Given the description of an element on the screen output the (x, y) to click on. 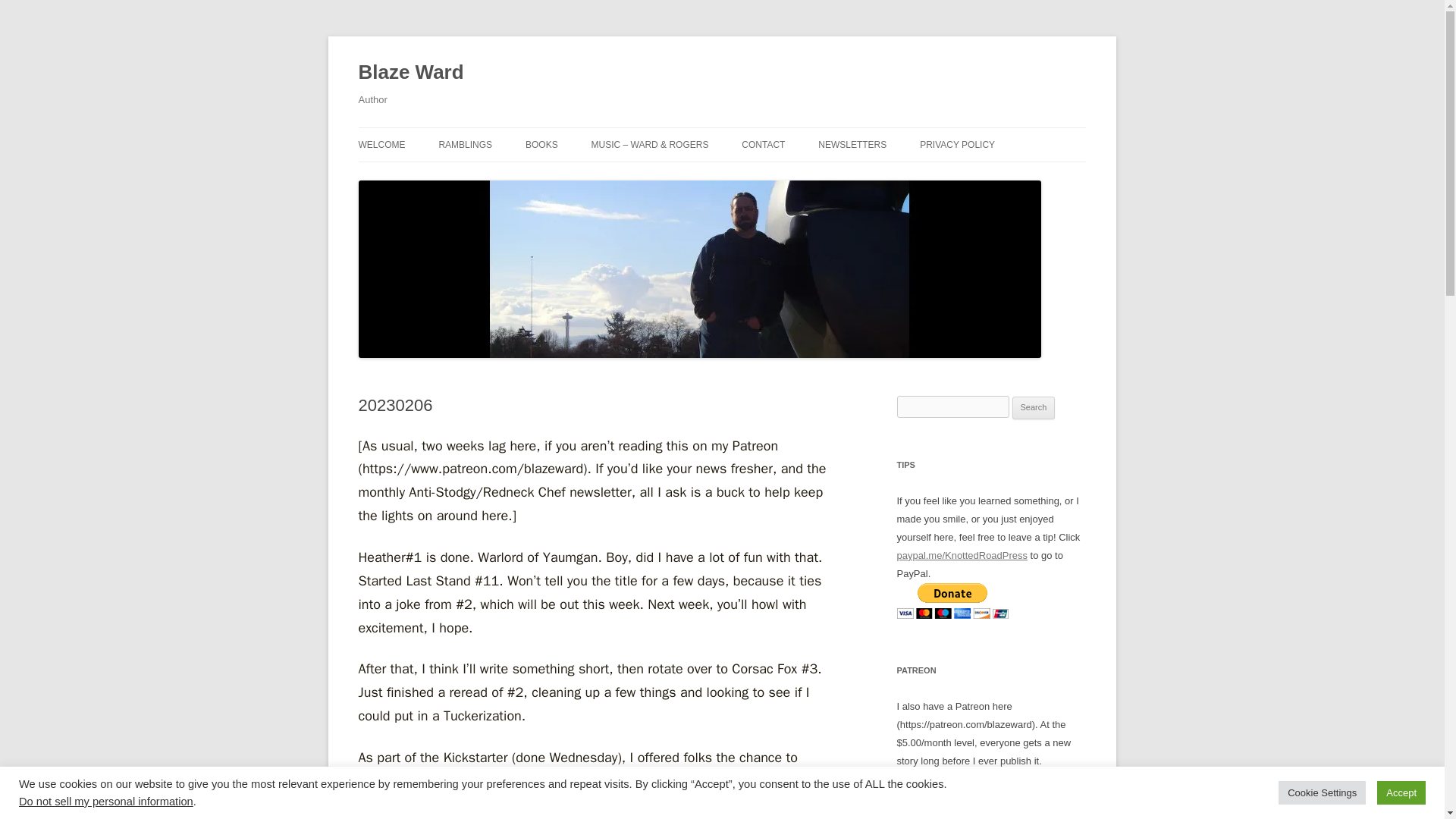
SHOULD I COSPLAY? (995, 176)
Search (1033, 407)
FRIENDS (817, 176)
PRIVACY POLICY (957, 144)
Cookie Settings (1321, 792)
Blaze Ward (410, 72)
Do not sell my personal information (105, 801)
RAMBLINGS (465, 144)
CONTACT (762, 144)
WELCOME (381, 144)
